Given the description of an element on the screen output the (x, y) to click on. 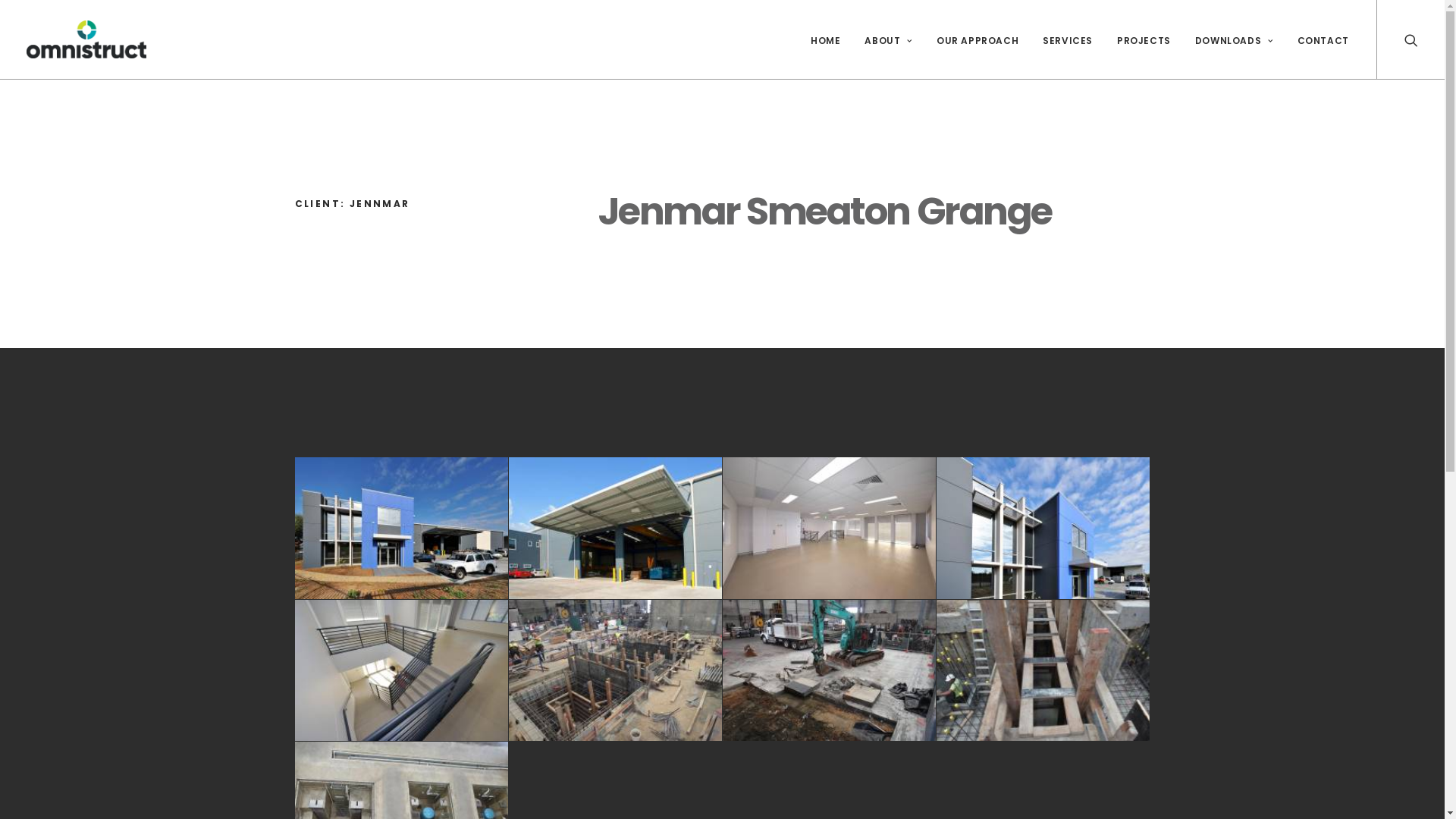
HOME Element type: text (825, 39)
OUR APPROACH Element type: text (977, 39)
ABOUT Element type: text (887, 39)
SERVICES Element type: text (1067, 39)
PROJECTS Element type: text (1143, 39)
CONTACT Element type: text (1317, 39)
DOWNLOADS Element type: text (1233, 39)
